Given the description of an element on the screen output the (x, y) to click on. 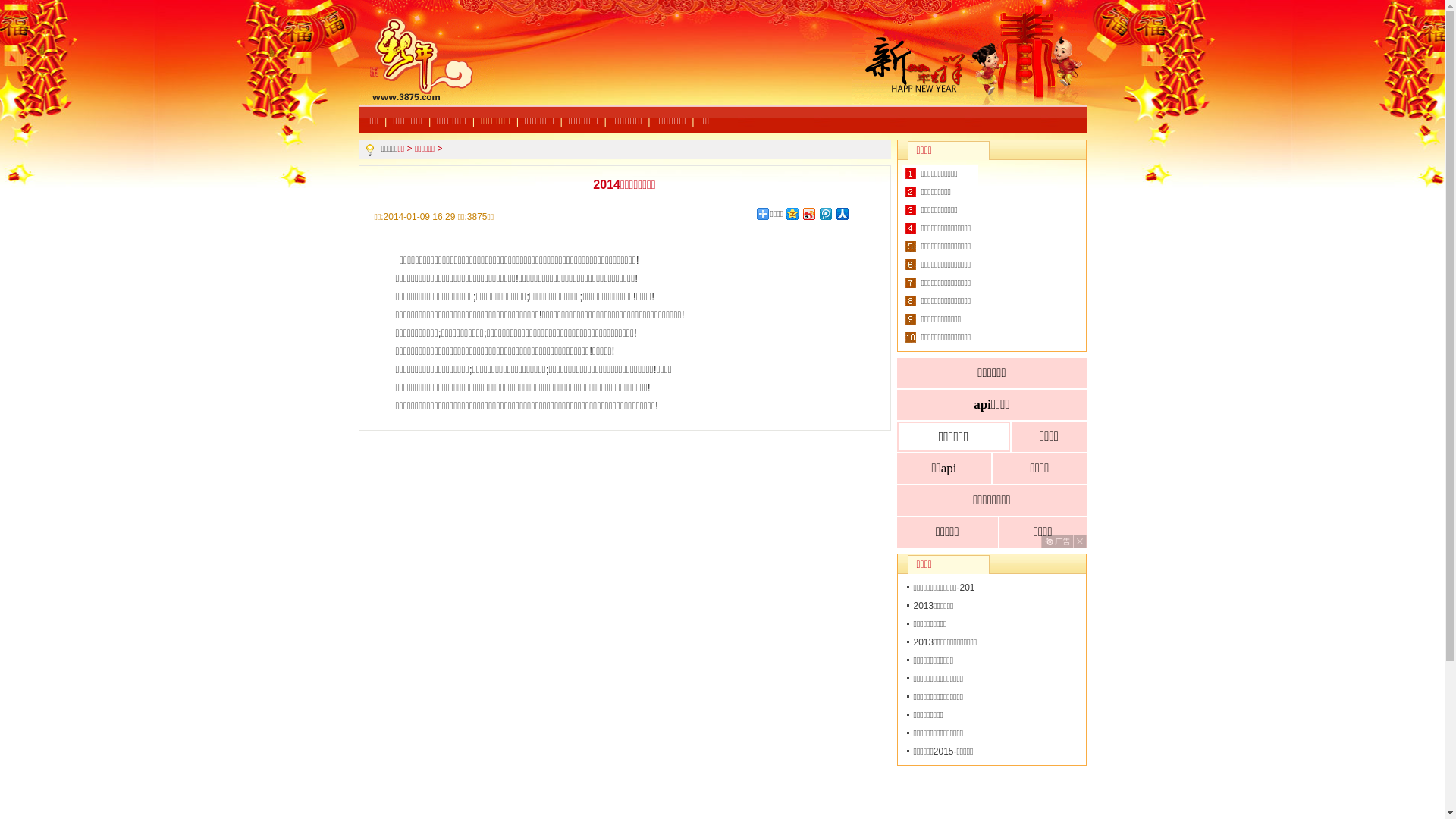
Advertisement Element type: hover (672, 68)
